Given the description of an element on the screen output the (x, y) to click on. 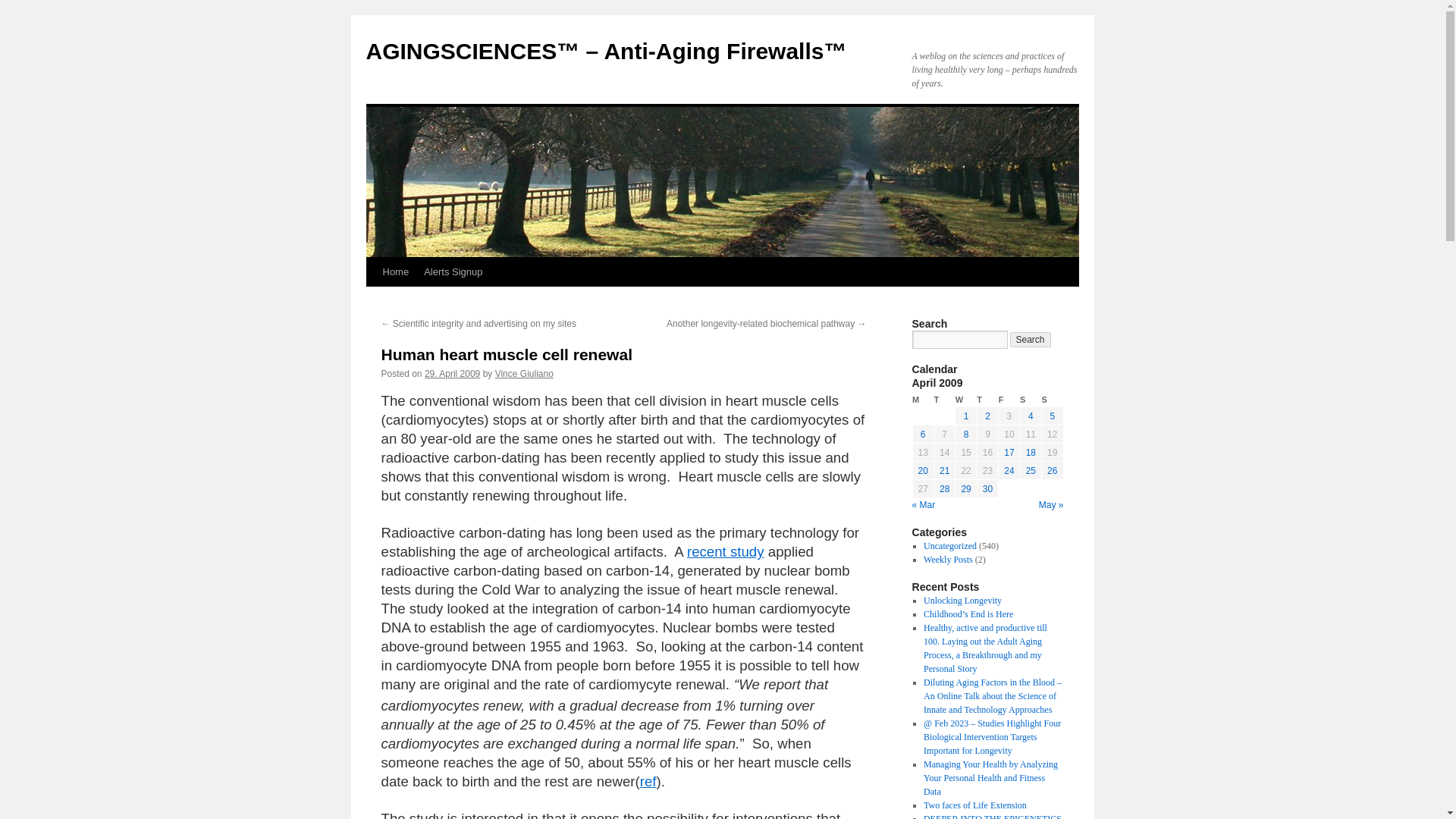
20 (923, 470)
18 (1030, 452)
26 (1051, 470)
Monday (922, 400)
Friday (1009, 400)
29 (965, 489)
Vince Giuliano (524, 373)
Thursday (986, 400)
Saturday (1030, 400)
Search (1030, 339)
Sunday (1052, 400)
01:46 (452, 373)
28 (944, 489)
Home (395, 271)
recent study (725, 551)
